Given the description of an element on the screen output the (x, y) to click on. 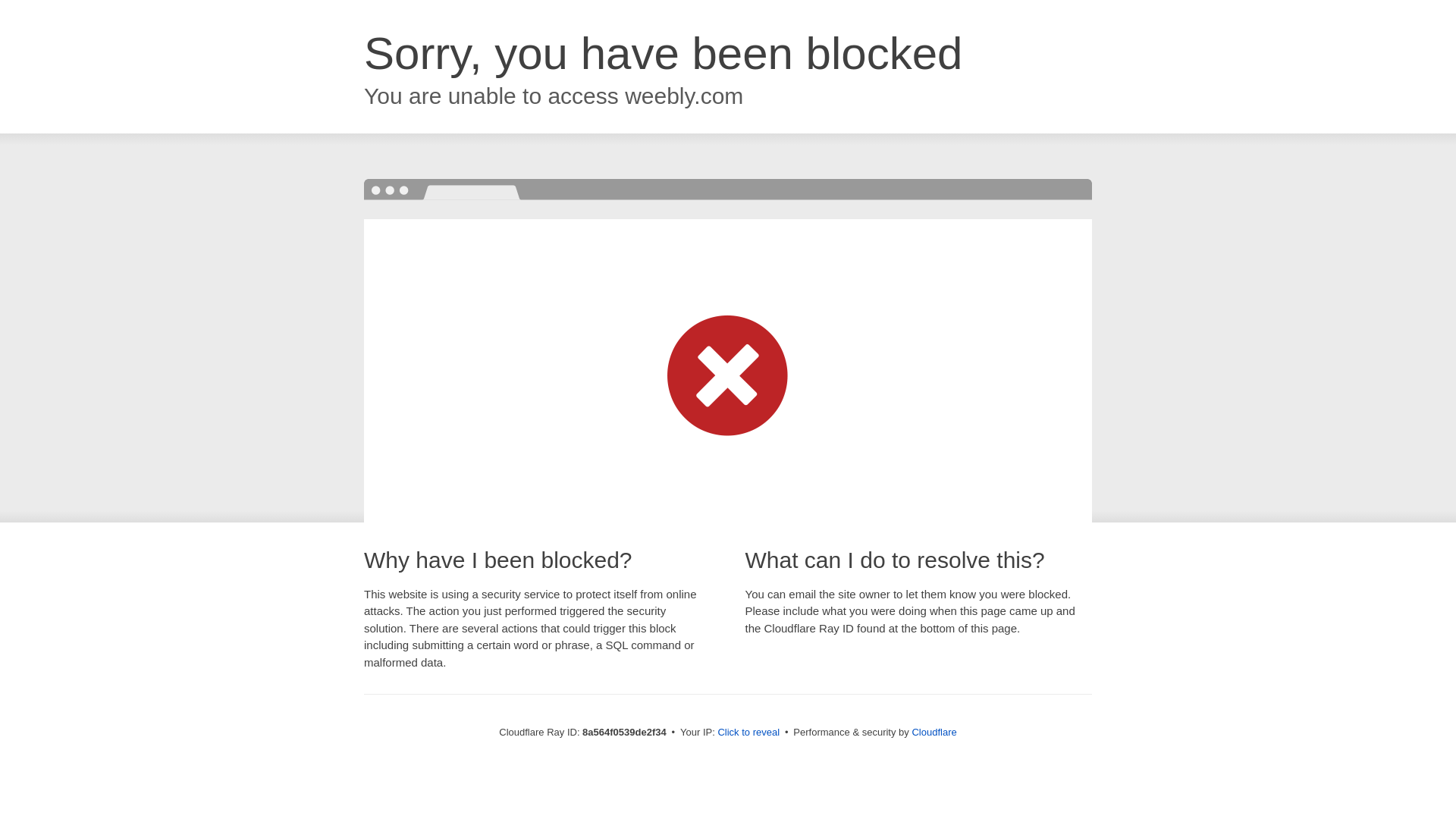
Cloudflare (933, 731)
Click to reveal (747, 732)
